Given the description of an element on the screen output the (x, y) to click on. 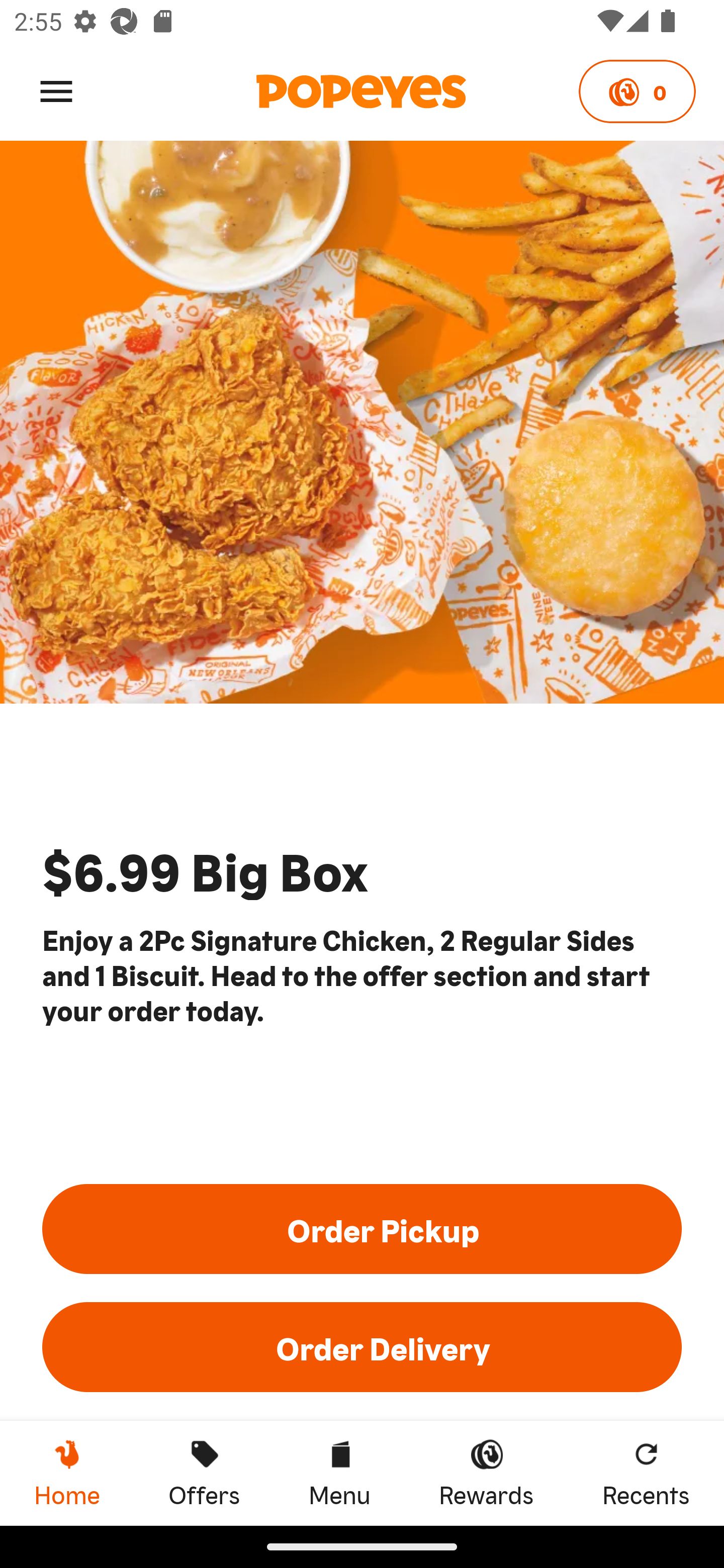
Menu  (56, 90)
0 Points 0 (636, 91)
Order Pickup (361, 1228)
Order Delivery (361, 1346)
Home, current page Home Home, current page (66, 1472)
Offers Offers Offers (203, 1472)
Menu Menu Menu (339, 1472)
Rewards Rewards Rewards (486, 1472)
Recents Recents Recents (646, 1472)
